Given the description of an element on the screen output the (x, y) to click on. 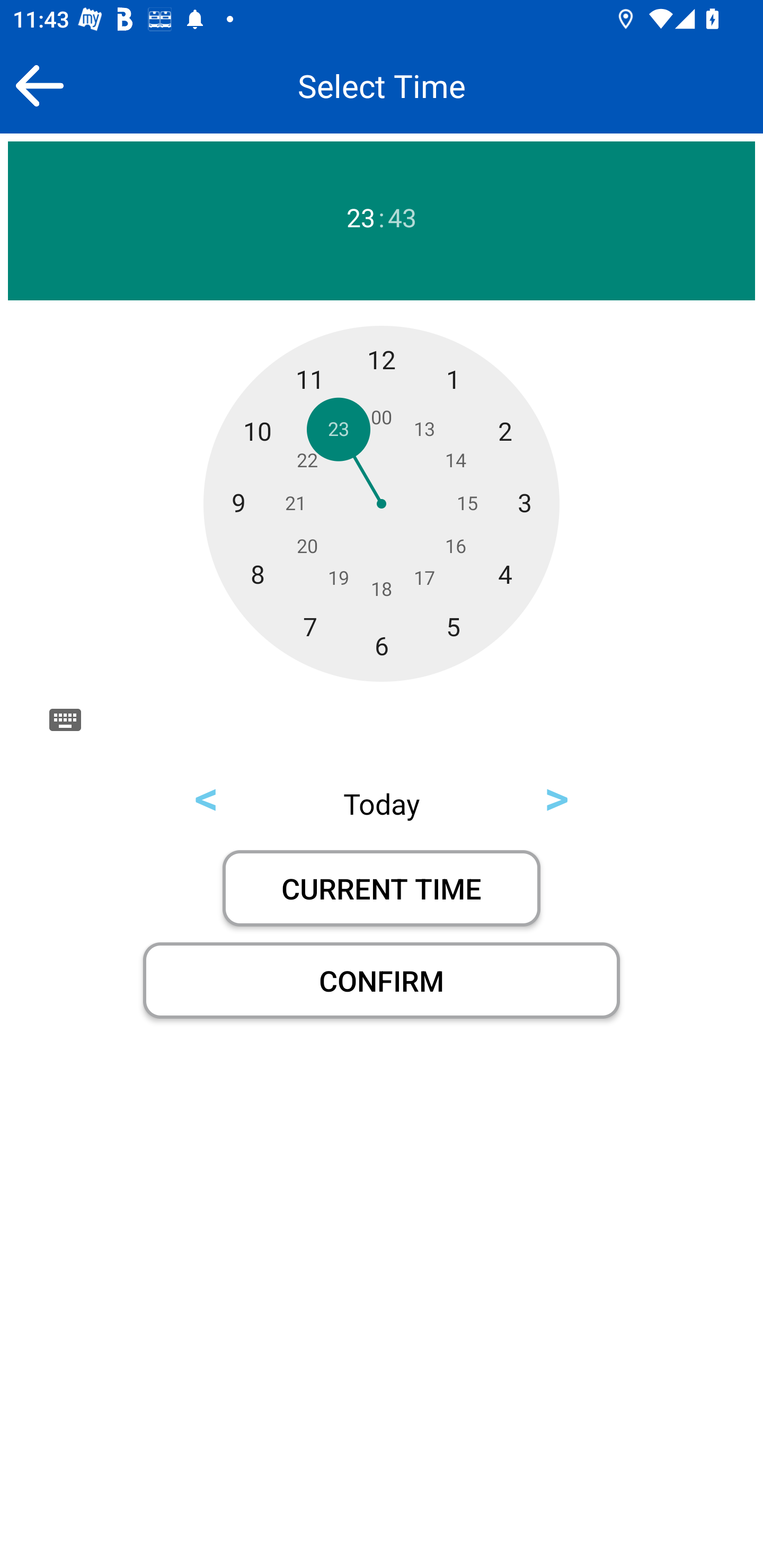
Back (39, 85)
23 (360, 217)
43 (401, 217)
Switch to text input mode for the time input. (64, 719)
< Previous day (206, 795)
> next day (555, 795)
CURRENT TIME (381, 887)
CONFIRM (381, 980)
